Given the description of an element on the screen output the (x, y) to click on. 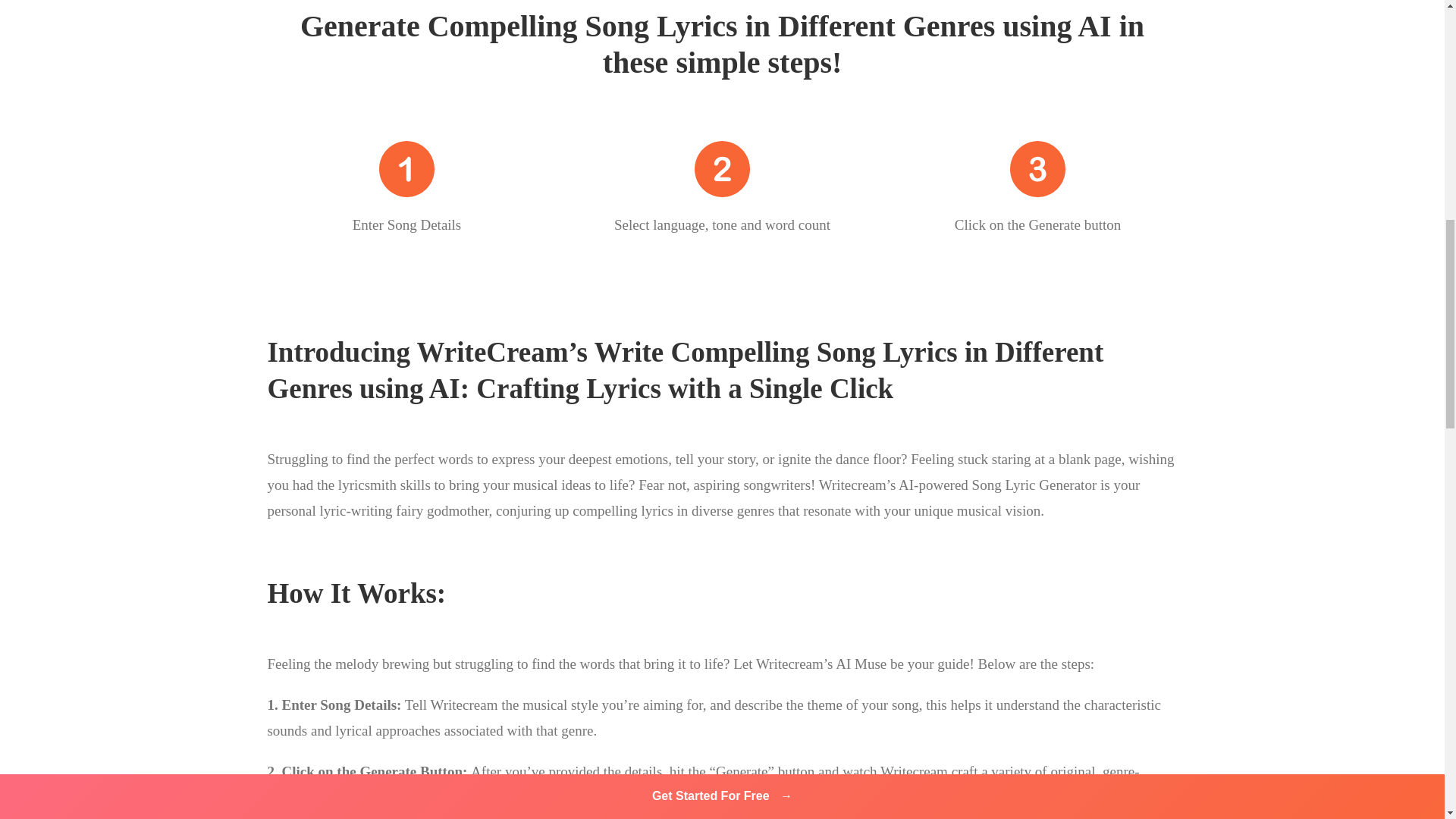
three-svgrepo-com (1037, 168)
one-svgrepo-com (406, 168)
two-svgrepo-com (722, 168)
